Given the description of an element on the screen output the (x, y) to click on. 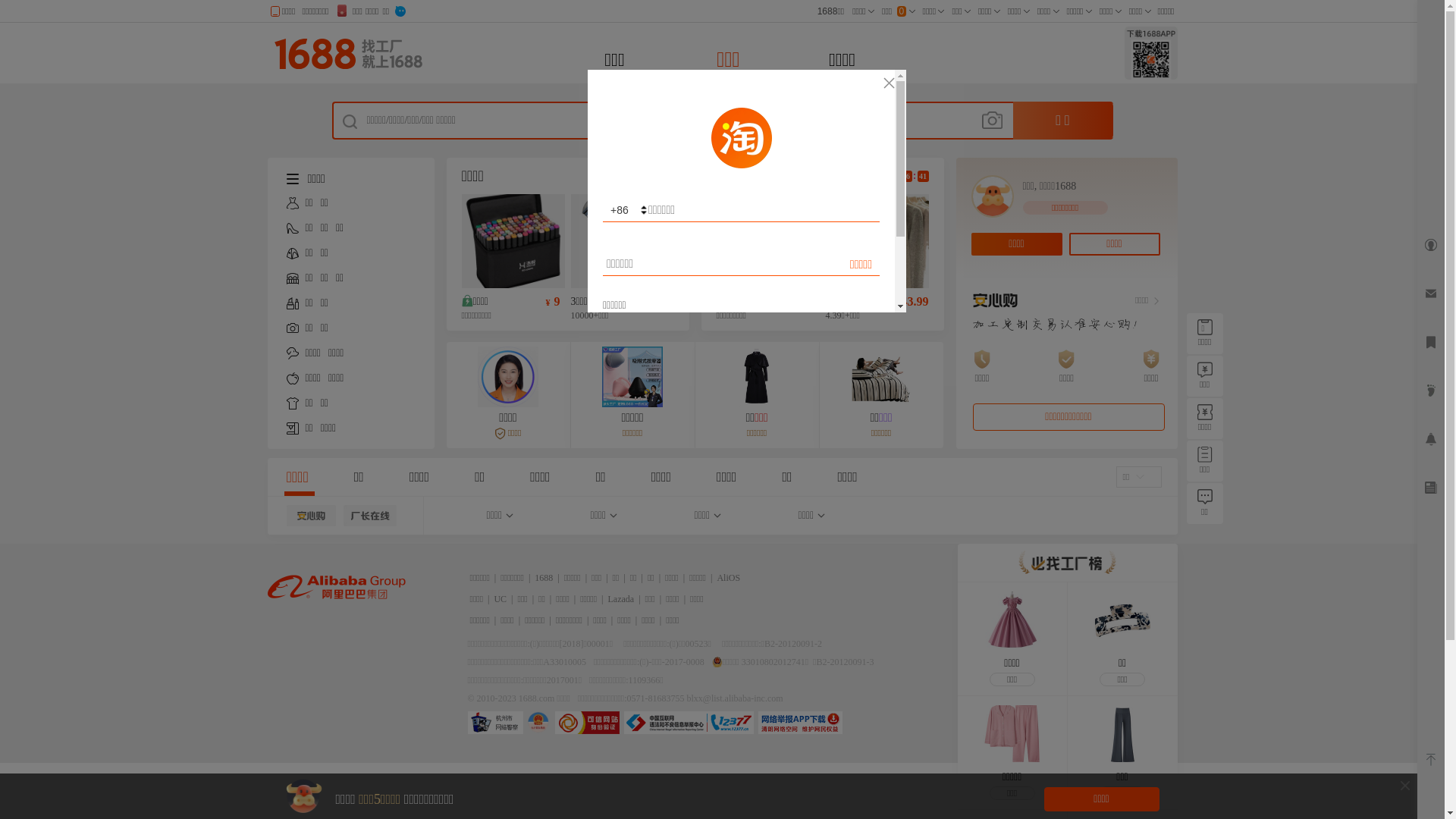
Lazada Element type: text (621, 598)
AliOS Element type: text (728, 577)
1688 Element type: text (543, 577)
UC Element type: text (499, 598)
